Given the description of an element on the screen output the (x, y) to click on. 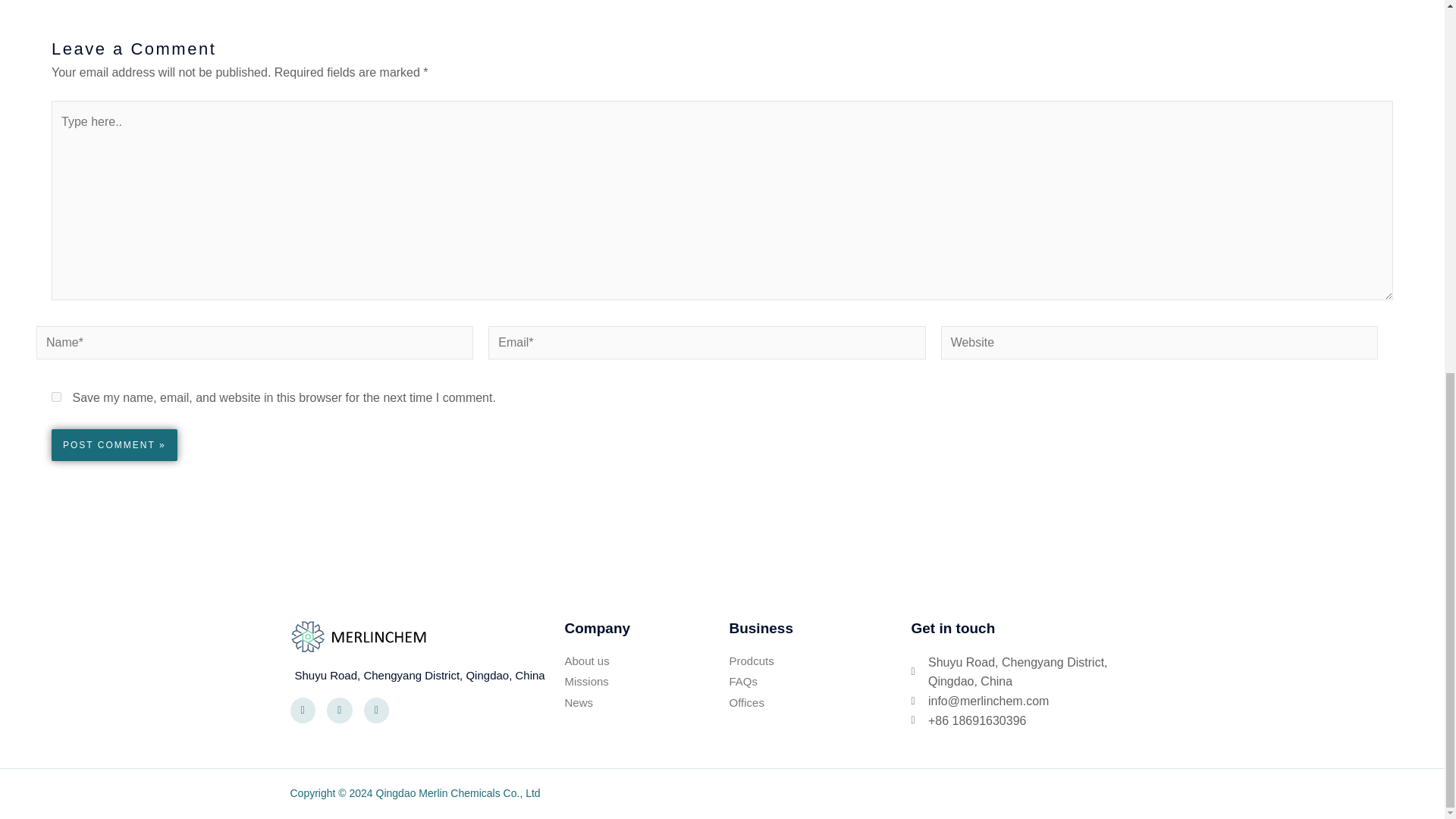
Facebook-f (302, 710)
About us (646, 661)
yes (55, 397)
News (646, 702)
Foursquare (377, 710)
Missions (646, 682)
Yelp (339, 710)
